Given the description of an element on the screen output the (x, y) to click on. 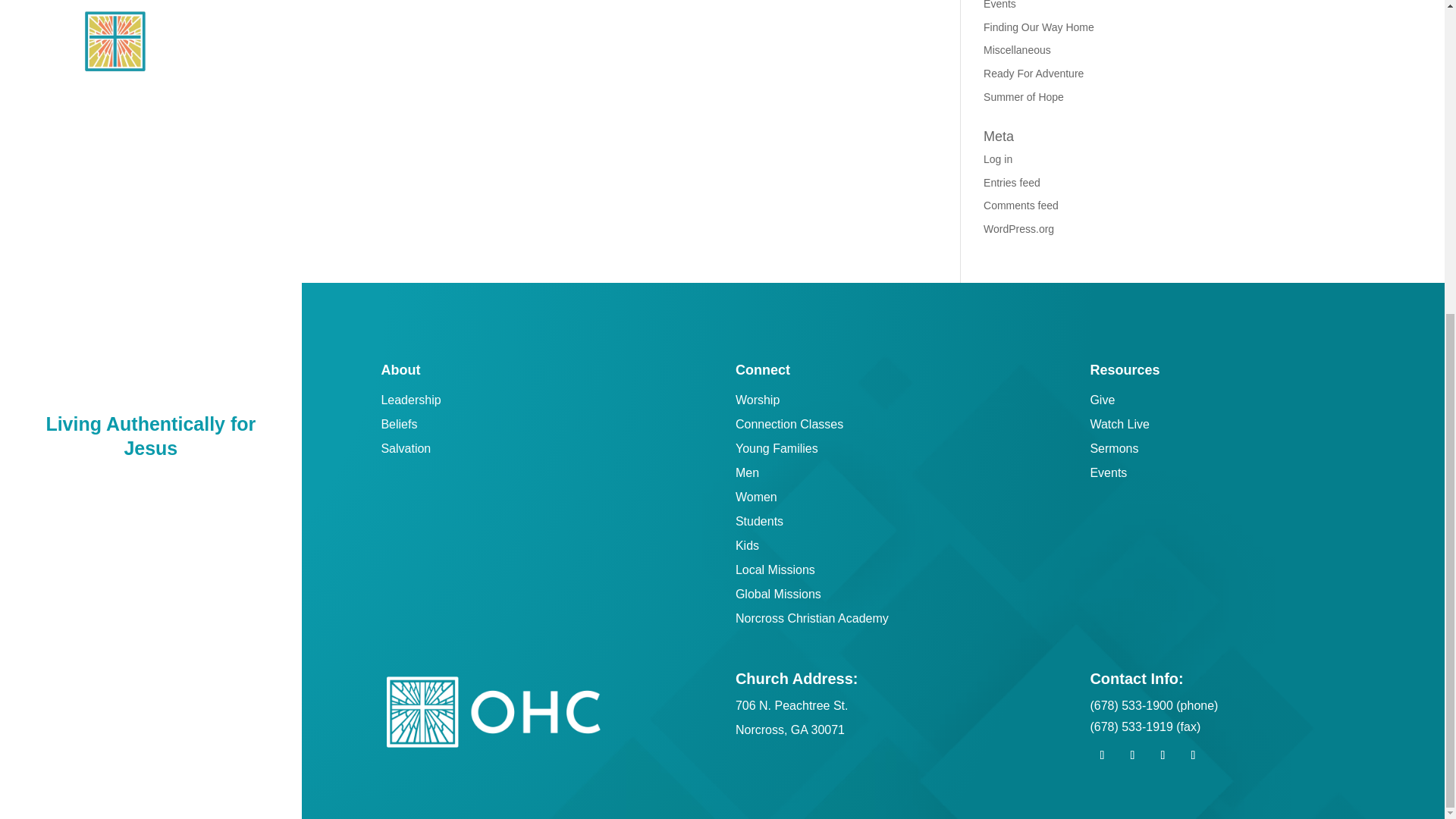
OHCLogoWhite (493, 711)
